Given the description of an element on the screen output the (x, y) to click on. 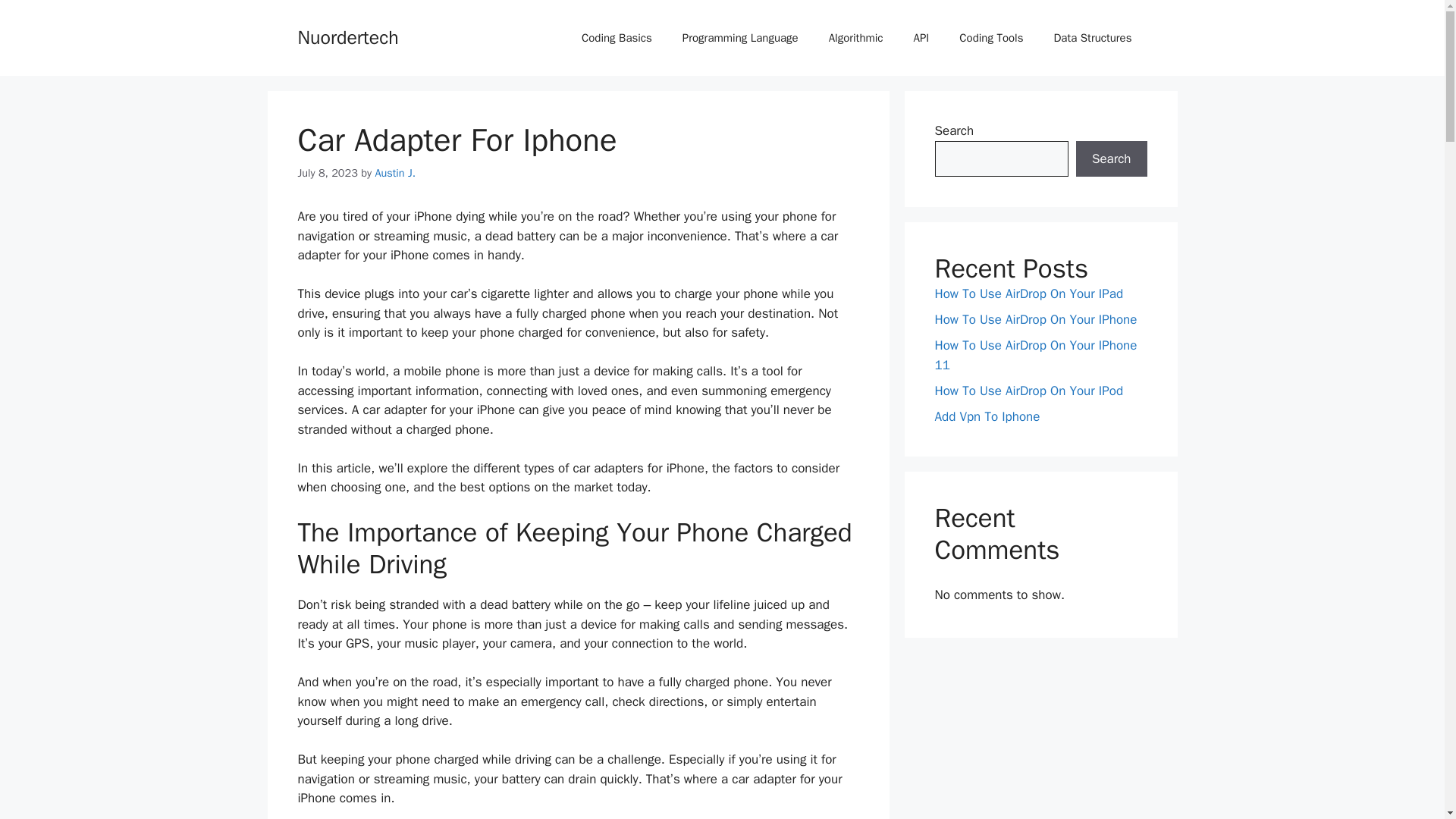
Search (1111, 158)
Coding Tools (990, 37)
Coding Basics (616, 37)
How To Use AirDrop On Your IPhone (1035, 319)
Data Structures (1092, 37)
API (921, 37)
How To Use AirDrop On Your IPad (1028, 293)
How To Use AirDrop On Your IPod (1028, 390)
Nuordertech (347, 37)
Austin J. (394, 172)
